Given the description of an element on the screen output the (x, y) to click on. 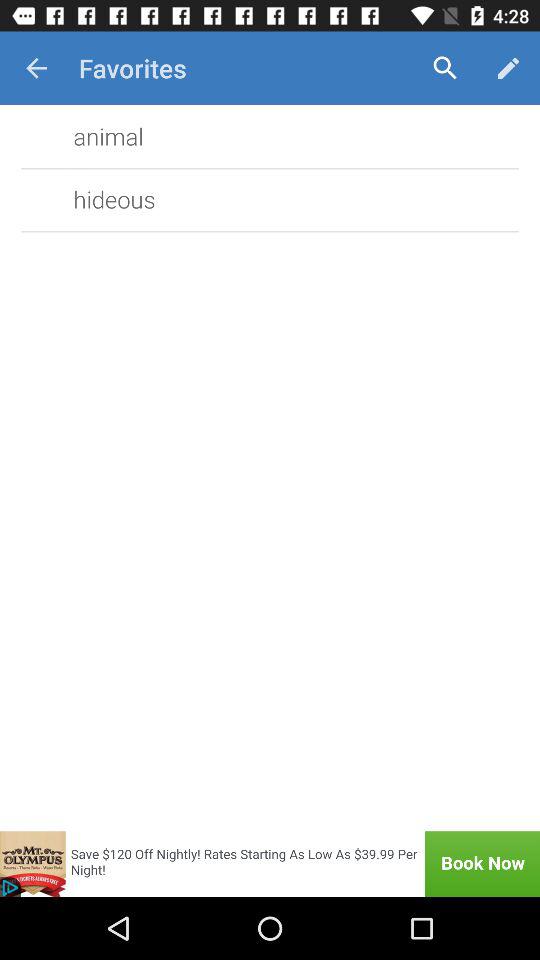
select the item to the left of favorites item (36, 68)
